Given the description of an element on the screen output the (x, y) to click on. 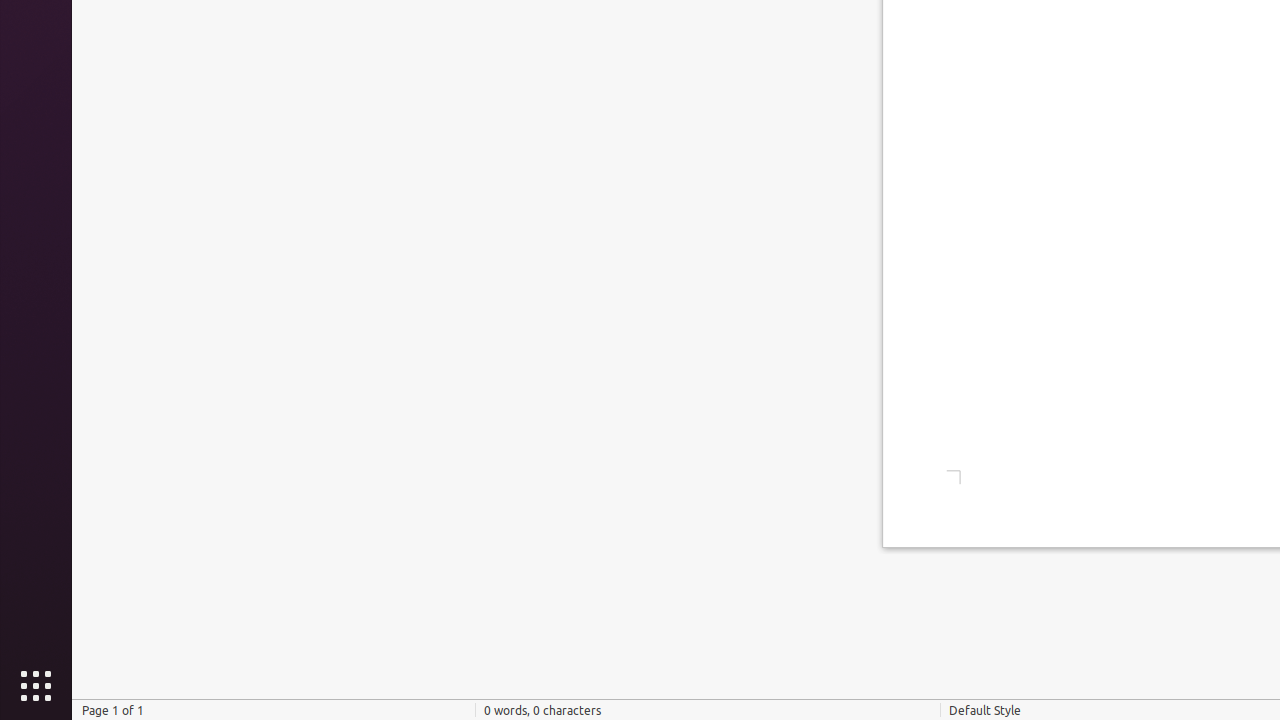
Show Applications Element type: toggle-button (36, 686)
